Given the description of an element on the screen output the (x, y) to click on. 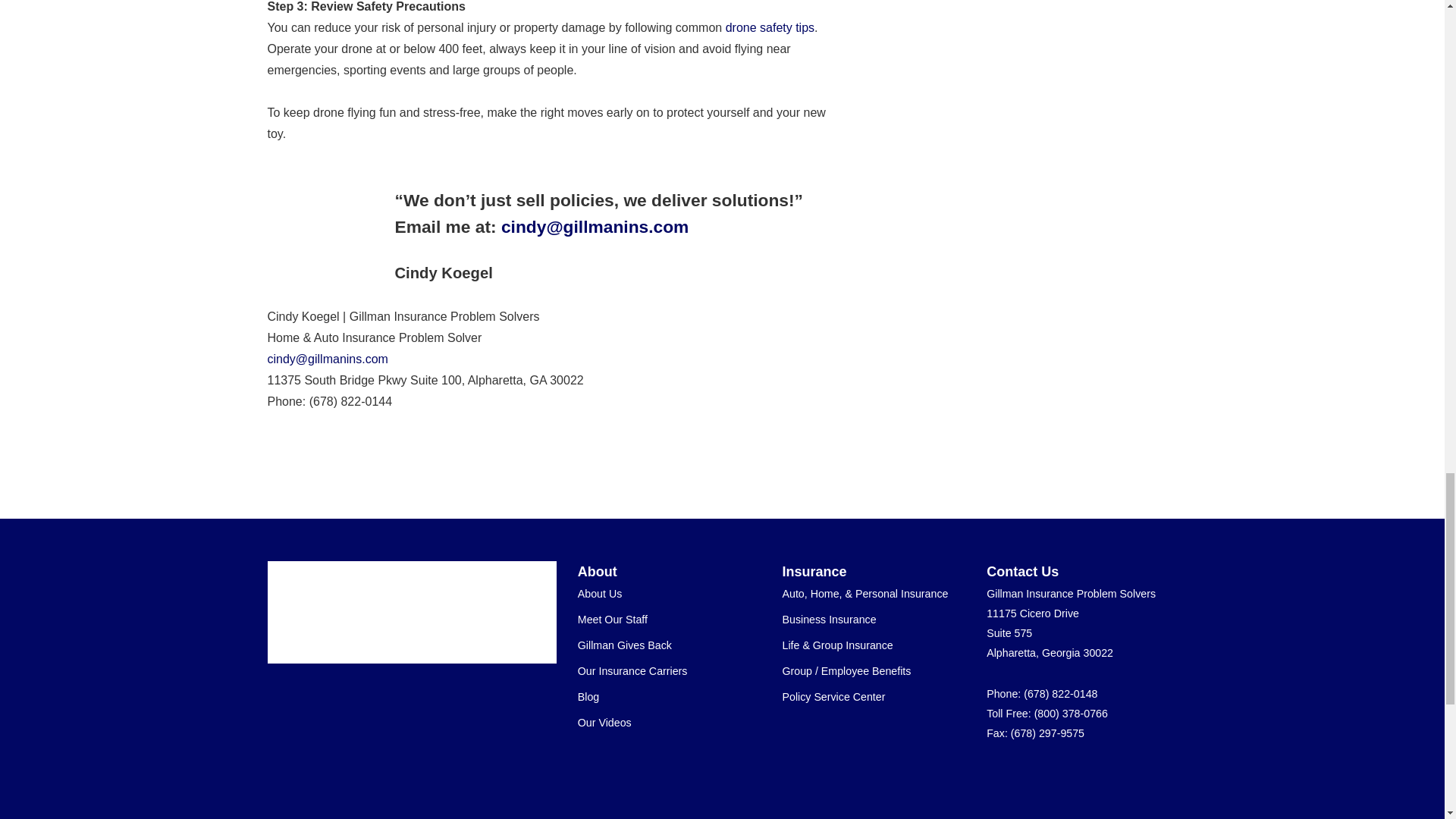
LinkedIn (1104, 775)
YouTube (1131, 775)
Google Maps (997, 775)
Instagram (1158, 775)
Facebook (1051, 775)
Gillman Insurance Problem Solvers, Alpharetta (401, 612)
X (1078, 775)
Yelp (1024, 775)
